Given the description of an element on the screen output the (x, y) to click on. 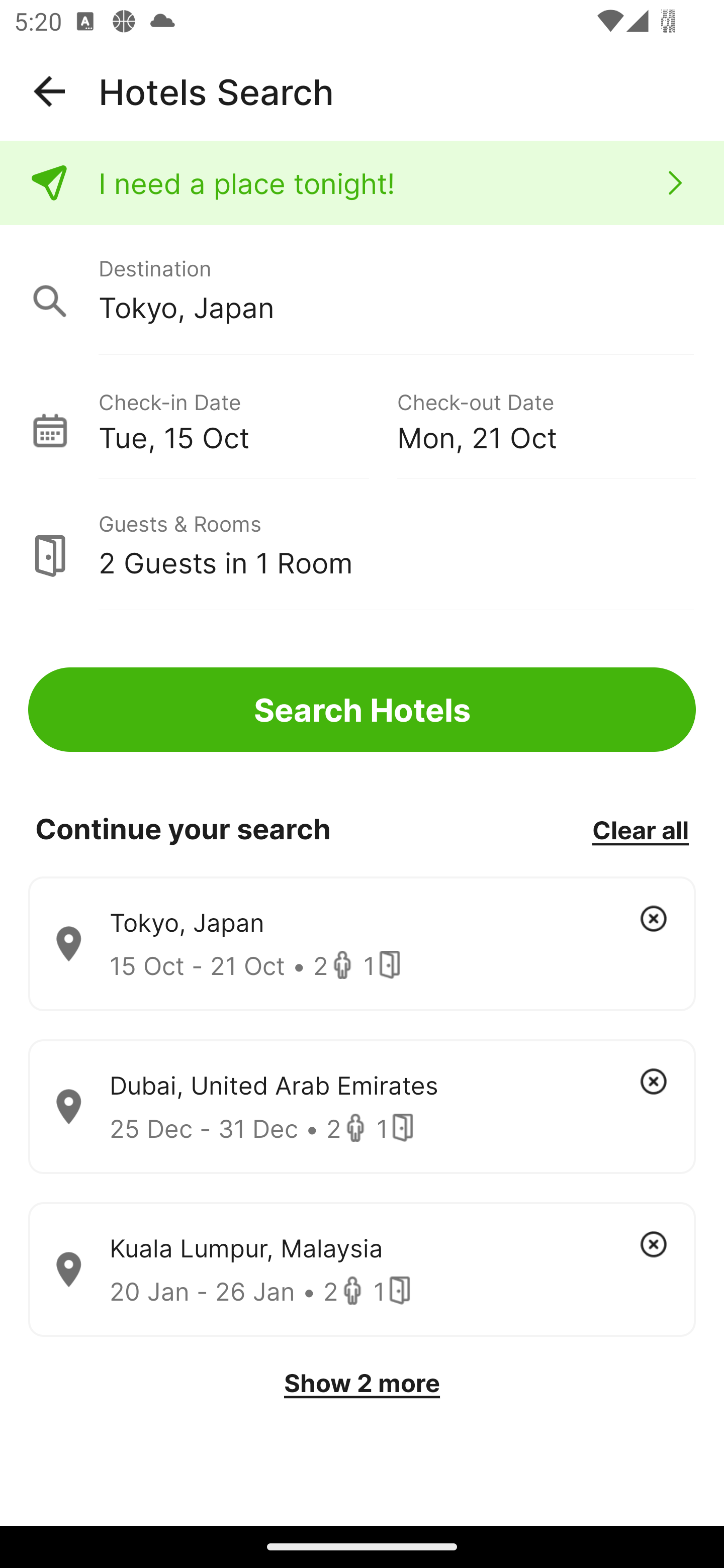
I need a place tonight! (362, 183)
Destination Tokyo, Japan (362, 290)
Check-in Date Tue, 15 Oct (247, 418)
Check-out Date Mon, 21 Oct (546, 418)
Guests & Rooms 2 Guests in 1 Room (362, 545)
Search Hotels (361, 709)
Clear all (640, 829)
Tokyo, Japan 15 Oct - 21 Oct • 2  1  (361, 943)
Kuala Lumpur, Malaysia 20 Jan - 26 Jan • 2  1  (361, 1269)
Show 2 more (362, 1382)
